Given the description of an element on the screen output the (x, y) to click on. 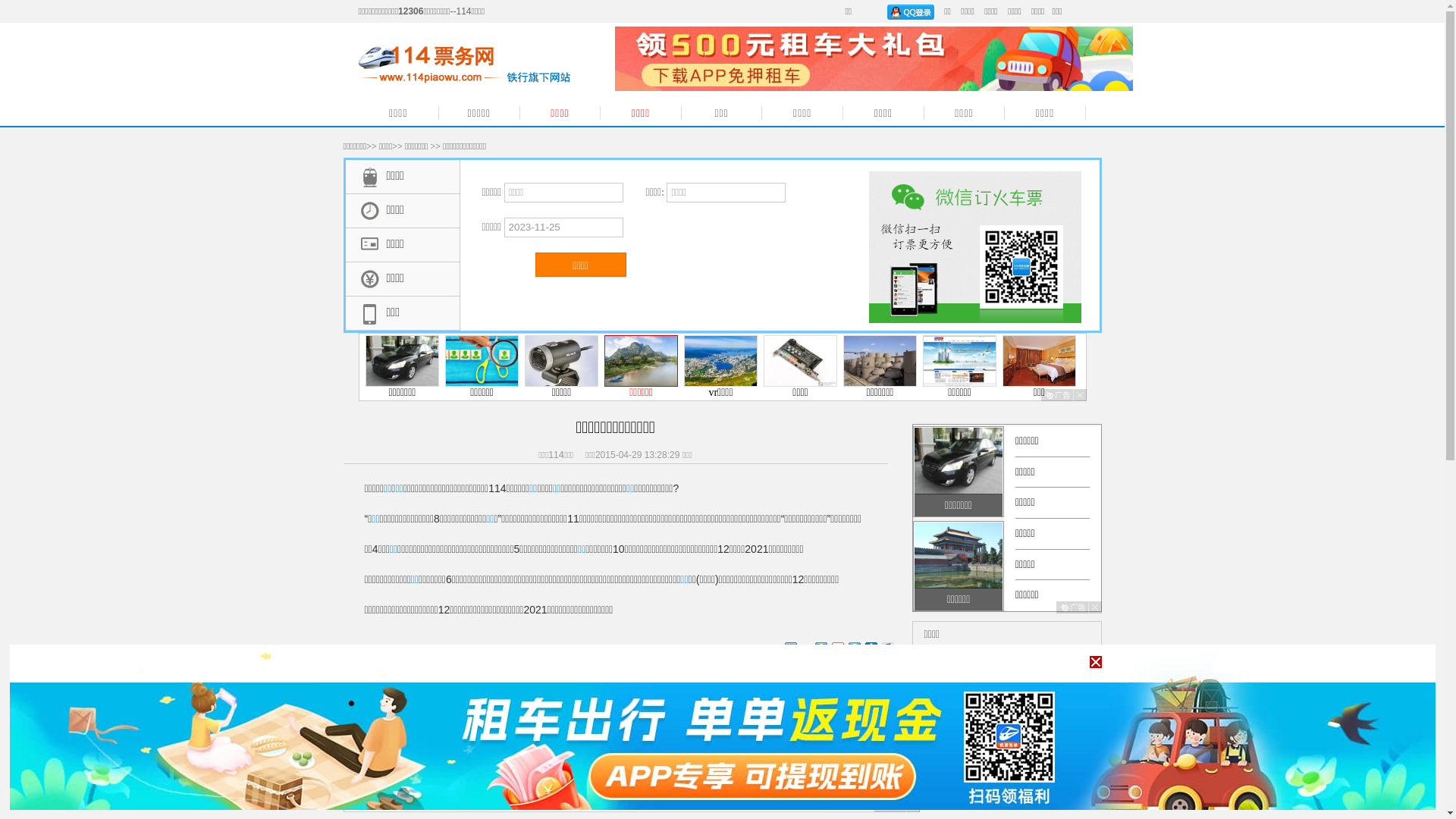
12306 Element type: text (941, 783)
